Given the description of an element on the screen output the (x, y) to click on. 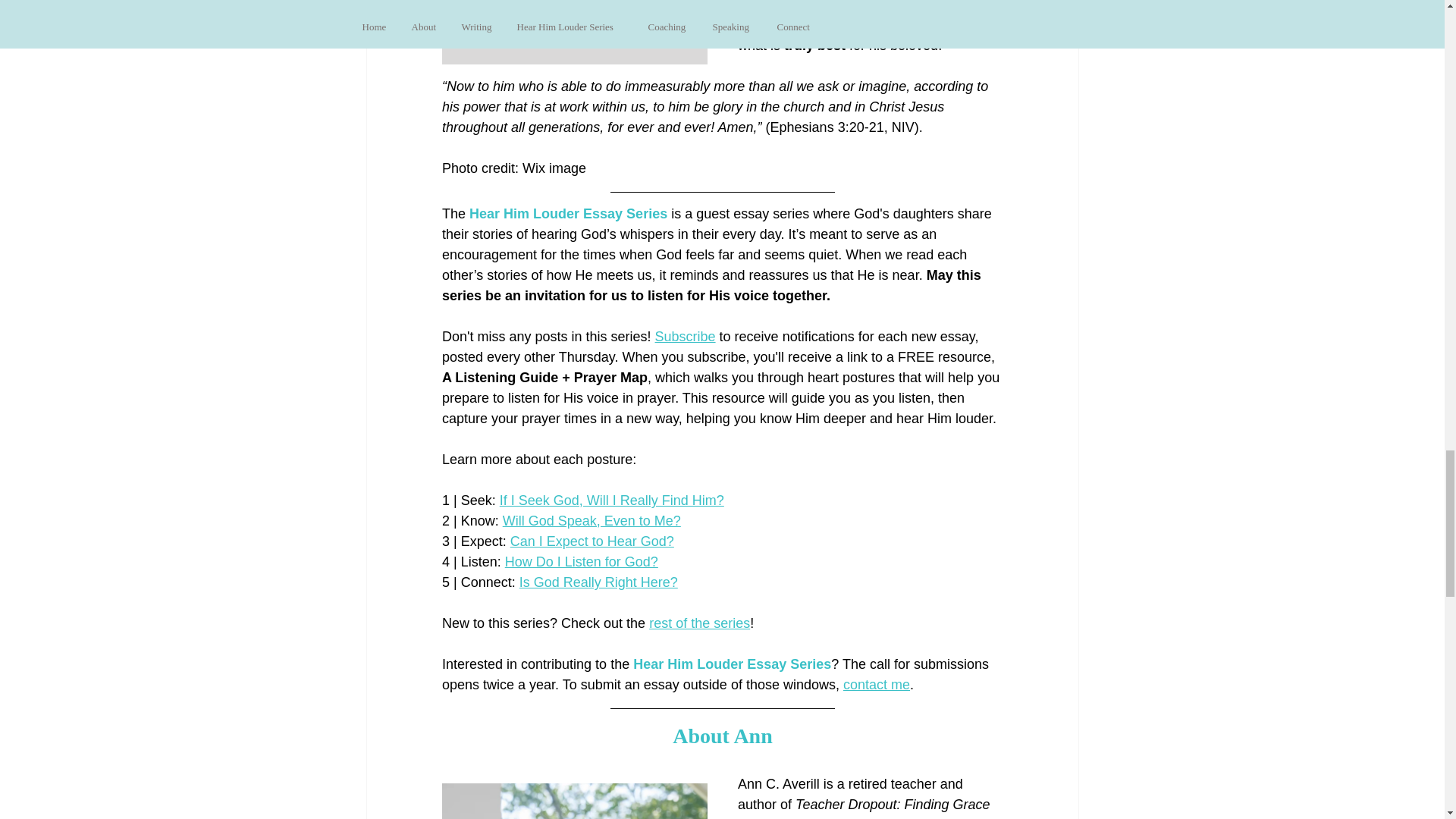
contact me (875, 684)
rest of the series (699, 622)
Is God Really Right Here? (597, 581)
Will God Speak, Even to Me? (590, 520)
How Do I Listen for God? (580, 561)
If I Seek God, Will I Really Find Him? (611, 500)
Subscribe (683, 336)
Can I Expect to Hear God? (590, 540)
